Given the description of an element on the screen output the (x, y) to click on. 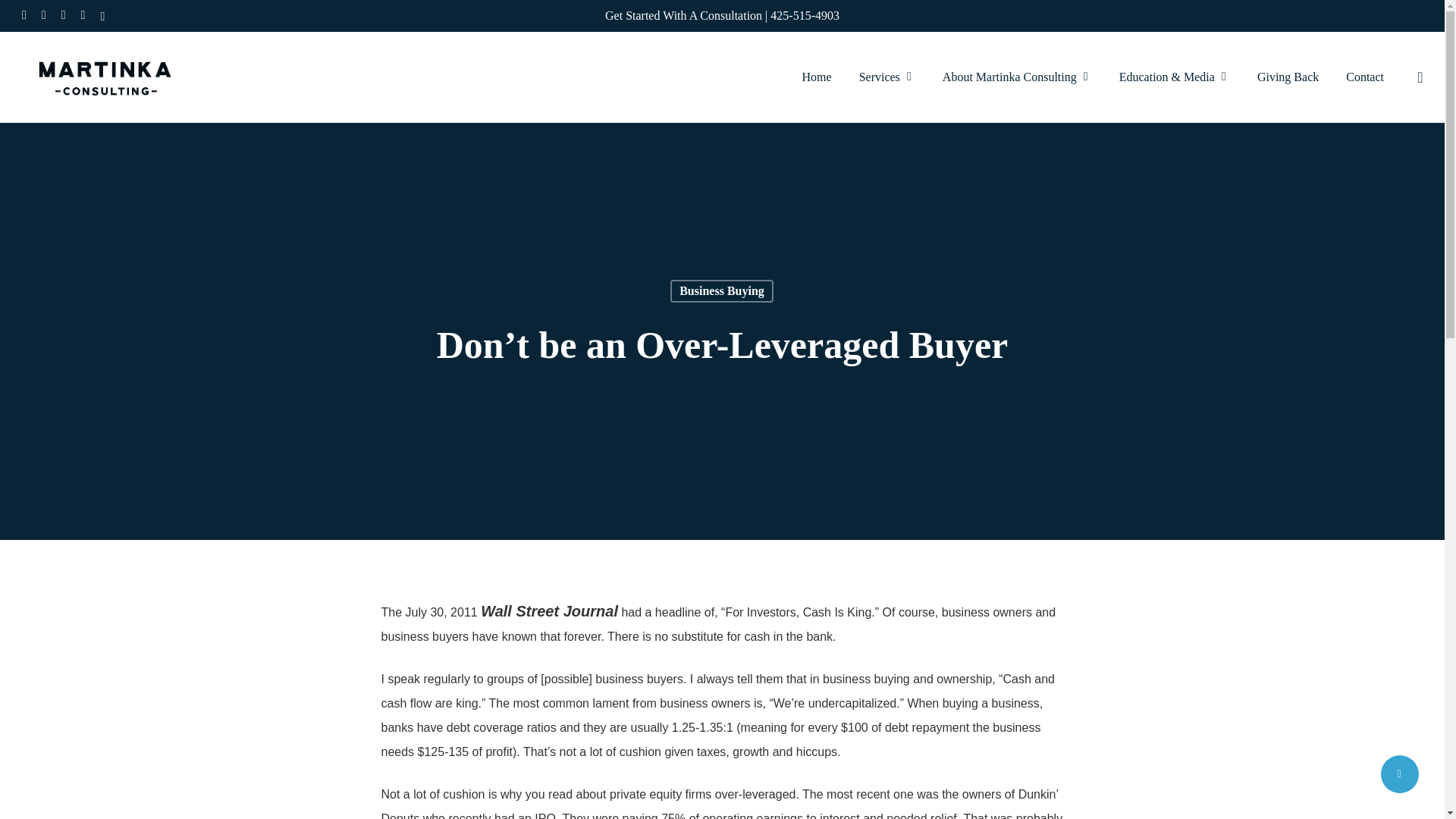
Services (887, 76)
Home (816, 76)
Contact (1364, 76)
search (1419, 77)
Business Buying (721, 291)
About Martinka Consulting (1017, 76)
Giving Back (1288, 76)
